Given the description of an element on the screen output the (x, y) to click on. 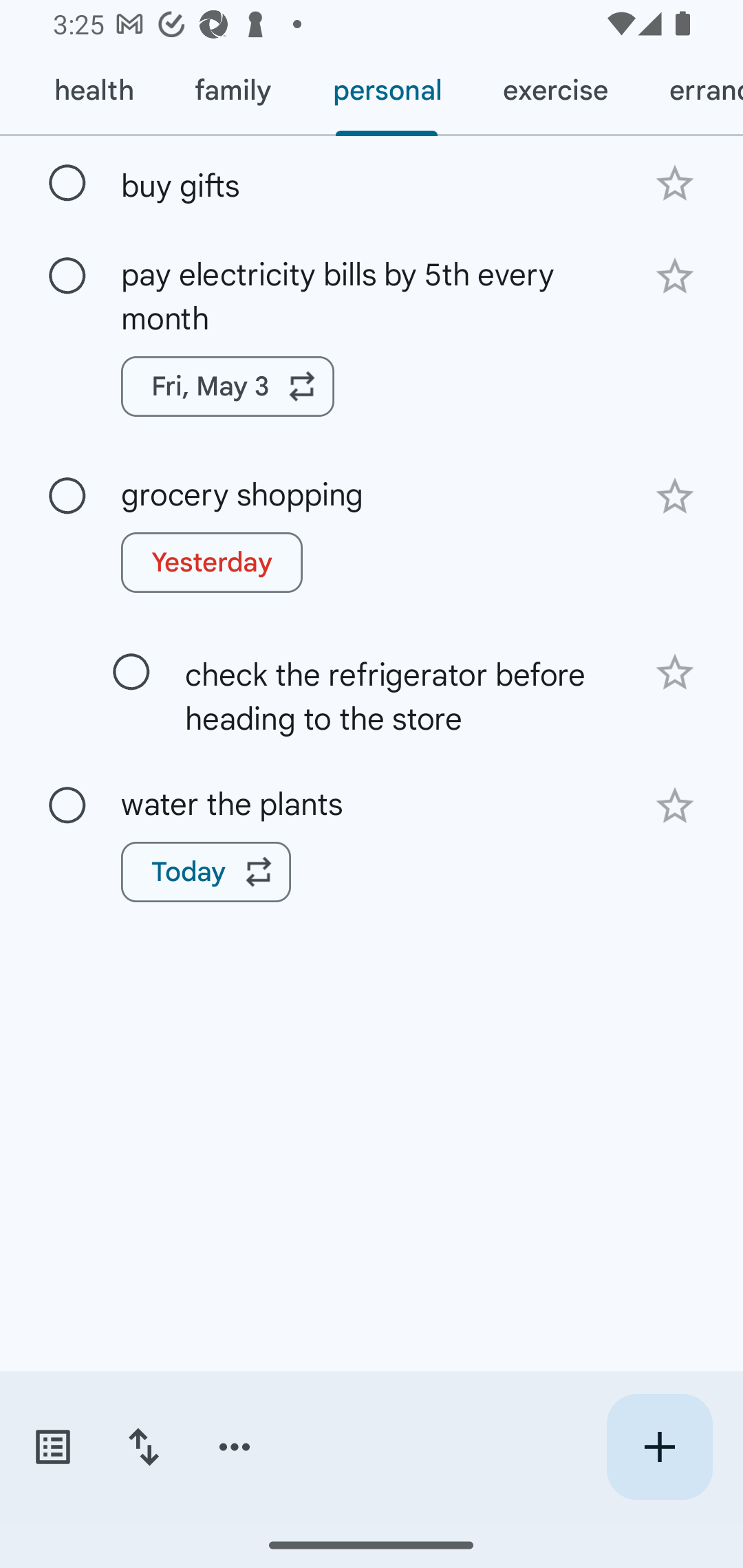
health (93, 90)
family (232, 90)
exercise (554, 90)
errands (690, 90)
buy gifts buy gifts Add star Mark as complete (371, 182)
Add star (674, 182)
Mark as complete (67, 183)
Add star (674, 275)
Mark as complete (67, 276)
Fri, May 3 (227, 386)
Add star (674, 496)
Mark as complete (67, 496)
Yesterday (211, 562)
Add star (674, 672)
Mark as complete (131, 671)
Add star (674, 805)
Mark as complete (67, 806)
Today (206, 871)
Switch task lists (52, 1447)
Create new task (659, 1446)
Change sort order (143, 1446)
More options (234, 1446)
